Given the description of an element on the screen output the (x, y) to click on. 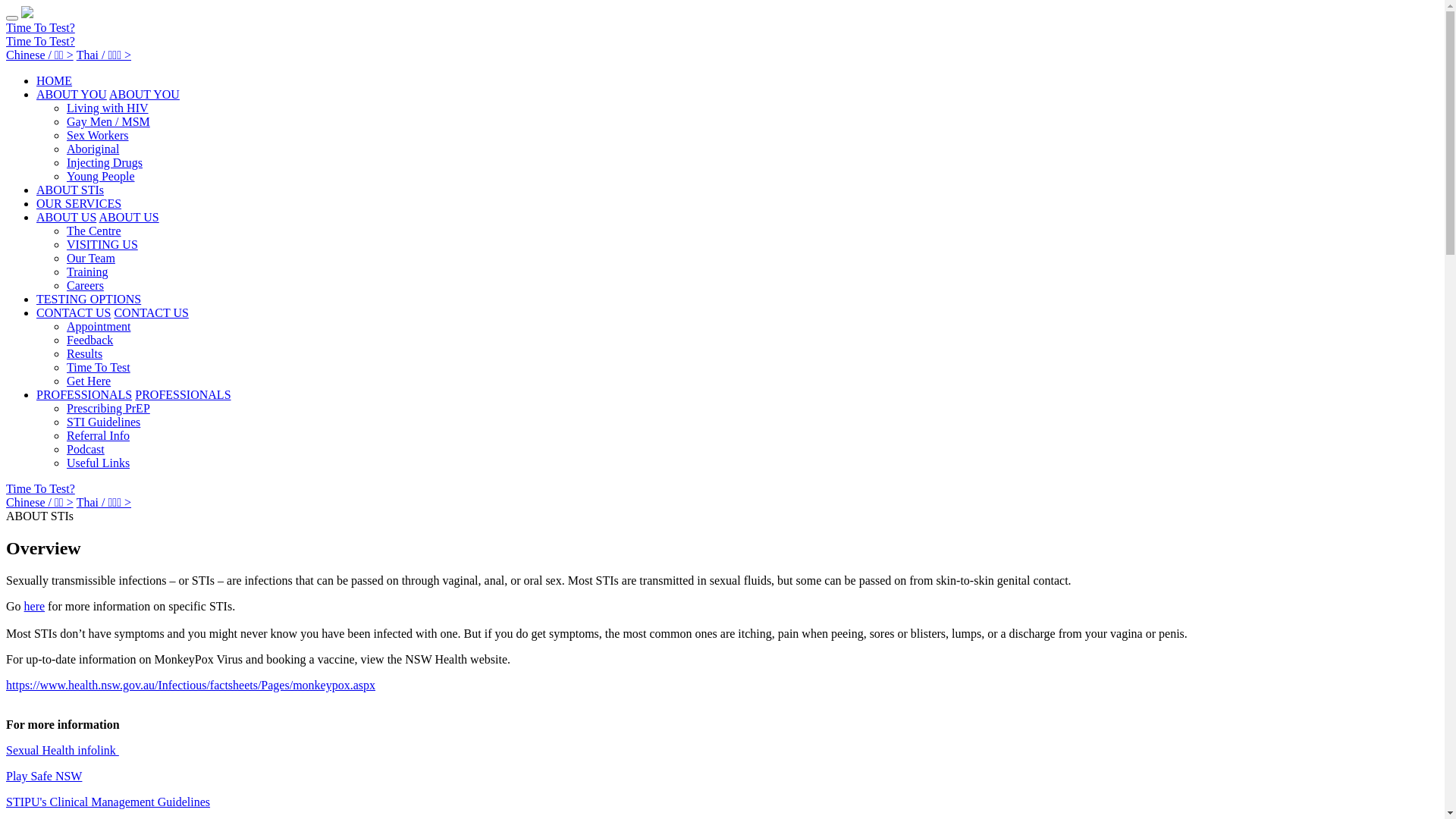
ABOUT STIs Element type: text (69, 189)
OUR SERVICES Element type: text (78, 203)
VISITING US Element type: text (102, 244)
Podcast Element type: text (85, 448)
CONTACT US Element type: text (150, 312)
Our Team Element type: text (90, 257)
ABOUT YOU Element type: text (71, 93)
Sexual Health infolink  Element type: text (62, 749)
Gay Men / MSM Element type: text (108, 121)
Feedback Element type: text (89, 339)
Play Safe NSW Element type: text (43, 775)
Injecting Drugs Element type: text (104, 162)
Time To Test? Element type: text (40, 488)
Sex Workers Element type: text (97, 134)
Time To Test? Element type: text (40, 40)
CONTACT US Element type: text (73, 312)
Living with HIV Element type: text (107, 107)
ABOUT YOU Element type: text (144, 93)
ABOUT US Element type: text (66, 216)
Referral Info Element type: text (97, 435)
STI Guidelines Element type: text (103, 421)
Useful Links Element type: text (97, 462)
PROFESSIONALS Element type: text (182, 394)
Prescribing PrEP Element type: text (108, 407)
TESTING OPTIONS Element type: text (88, 298)
Careers Element type: text (84, 285)
here Element type: text (34, 605)
Get Here Element type: text (88, 380)
ABOUT US Element type: text (128, 216)
PROFESSIONALS Element type: text (83, 394)
Aboriginal Element type: text (92, 148)
Time To Test Element type: text (98, 366)
Appointment Element type: text (98, 326)
HOME Element type: text (54, 80)
Results Element type: text (84, 353)
The Centre Element type: text (93, 230)
Time To Test? Element type: text (40, 27)
STIPU's Clinical Management Guidelines Element type: text (108, 801)
Training Element type: text (87, 271)
Young People Element type: text (100, 175)
